Given the description of an element on the screen output the (x, y) to click on. 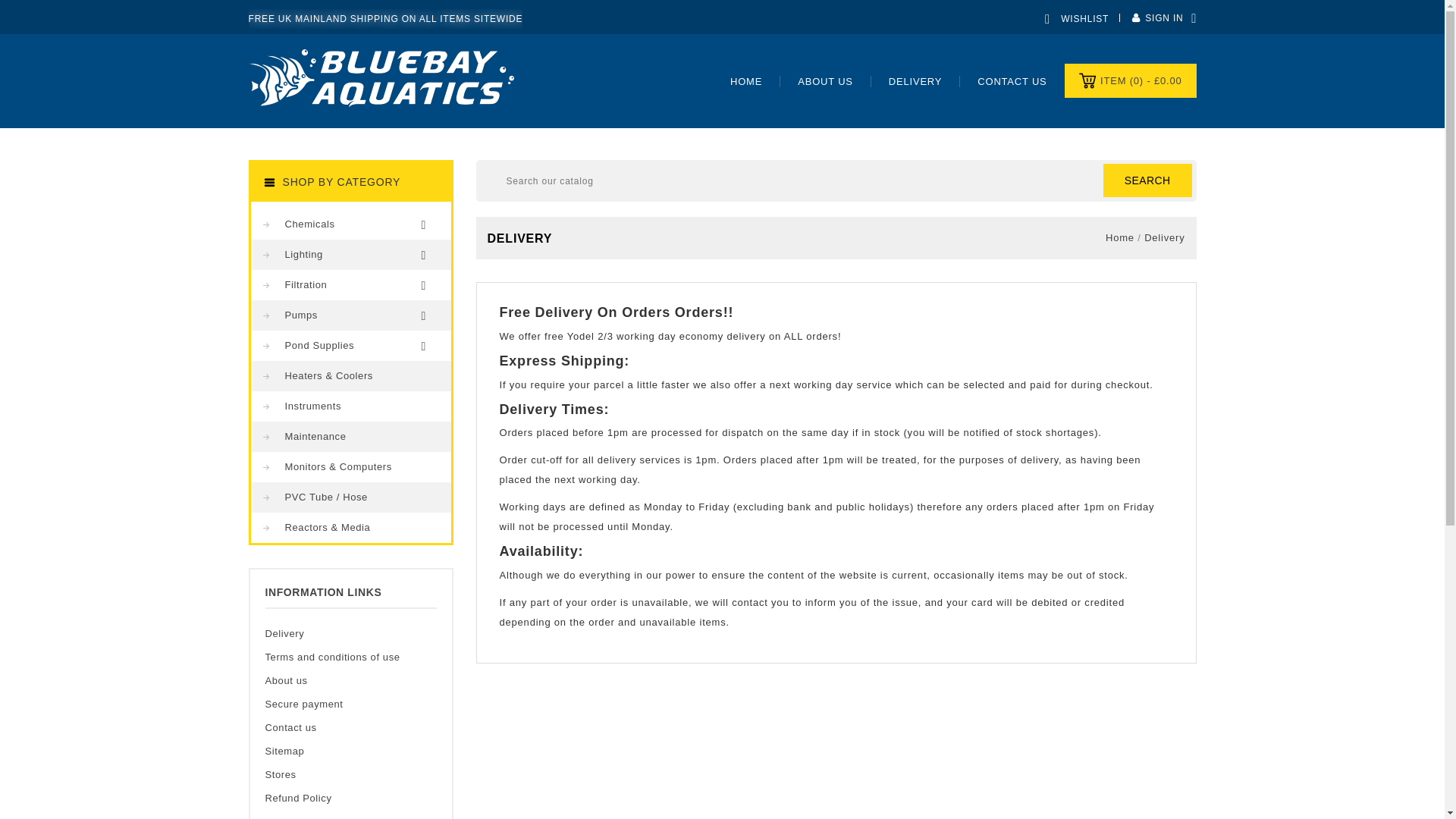
Terms and conditions of use (332, 656)
Maintenance (349, 436)
SEARCH (1147, 180)
Delivery (284, 633)
Refund Policy (297, 797)
Stores (280, 774)
HOME (745, 81)
Home (745, 81)
Delivery (914, 81)
Sitemap (284, 750)
